Given the description of an element on the screen output the (x, y) to click on. 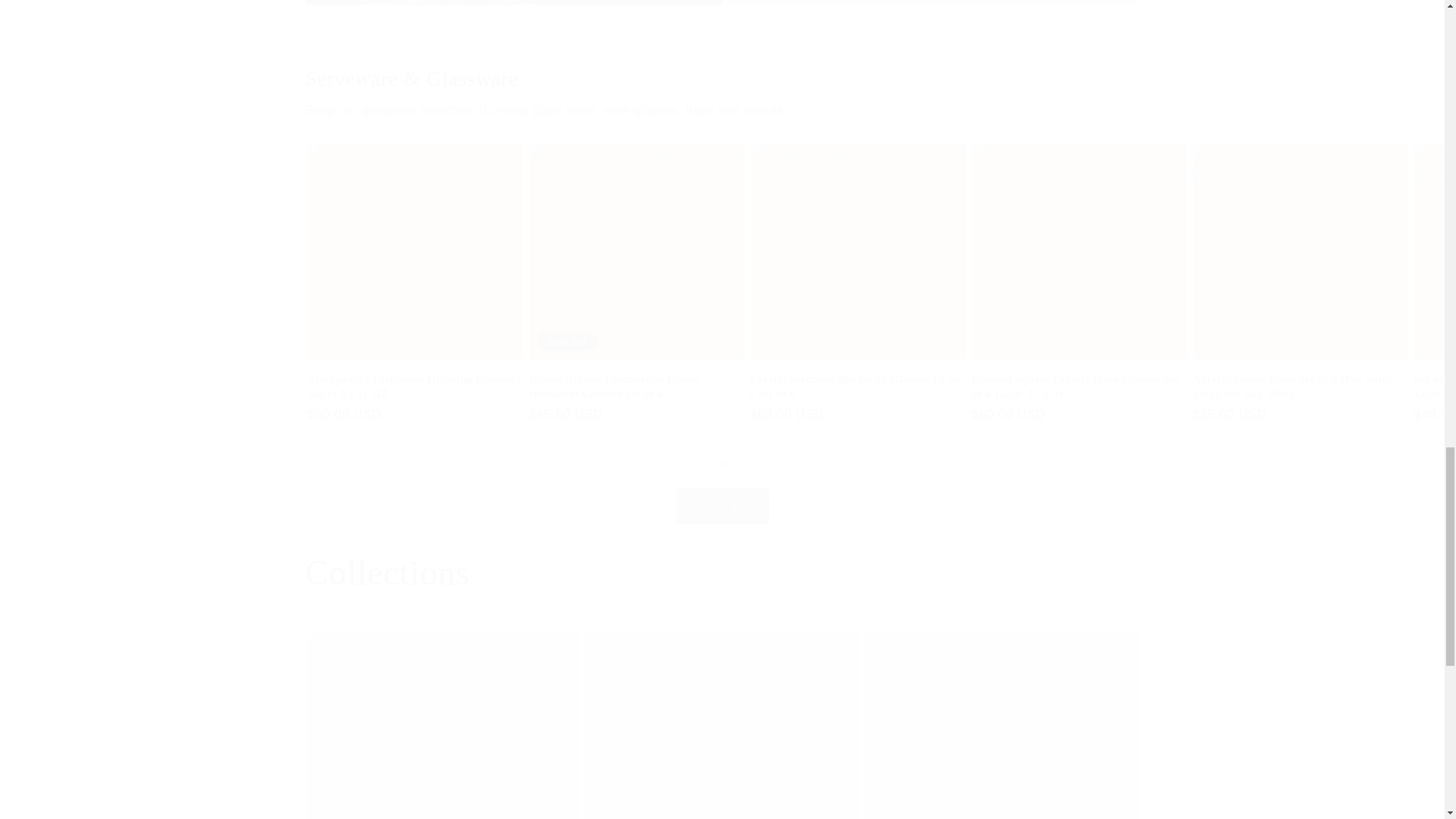
Collections (386, 573)
Stemware (441, 726)
Curated Gift Boxes (1001, 726)
Ripple Ribbed Champagne Coupe Iridescent Colored set of 4 (636, 386)
